Given the description of an element on the screen output the (x, y) to click on. 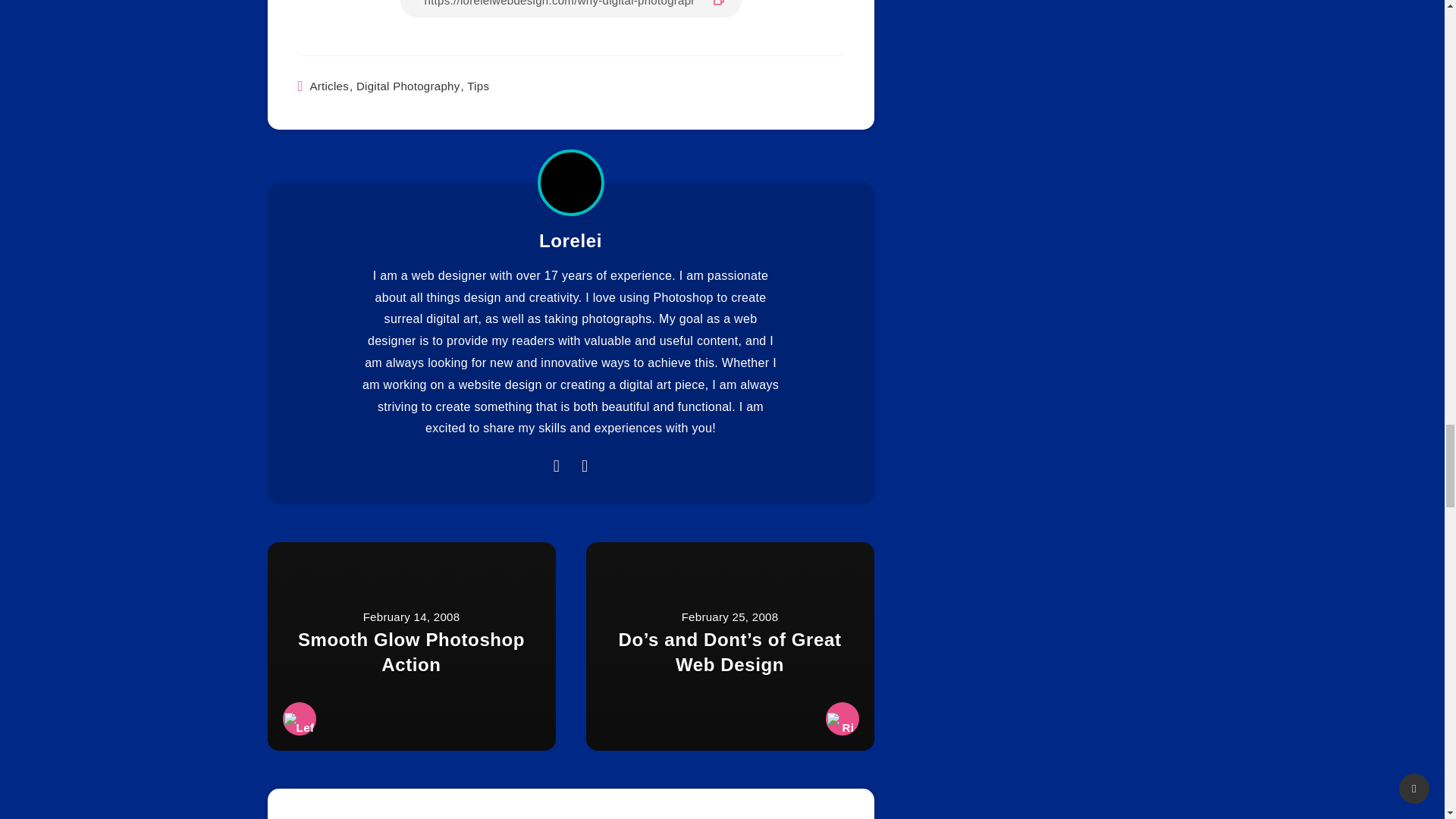
Tips (478, 85)
Lorelei (570, 242)
Digital Photography (408, 85)
Articles (328, 85)
